Given the description of an element on the screen output the (x, y) to click on. 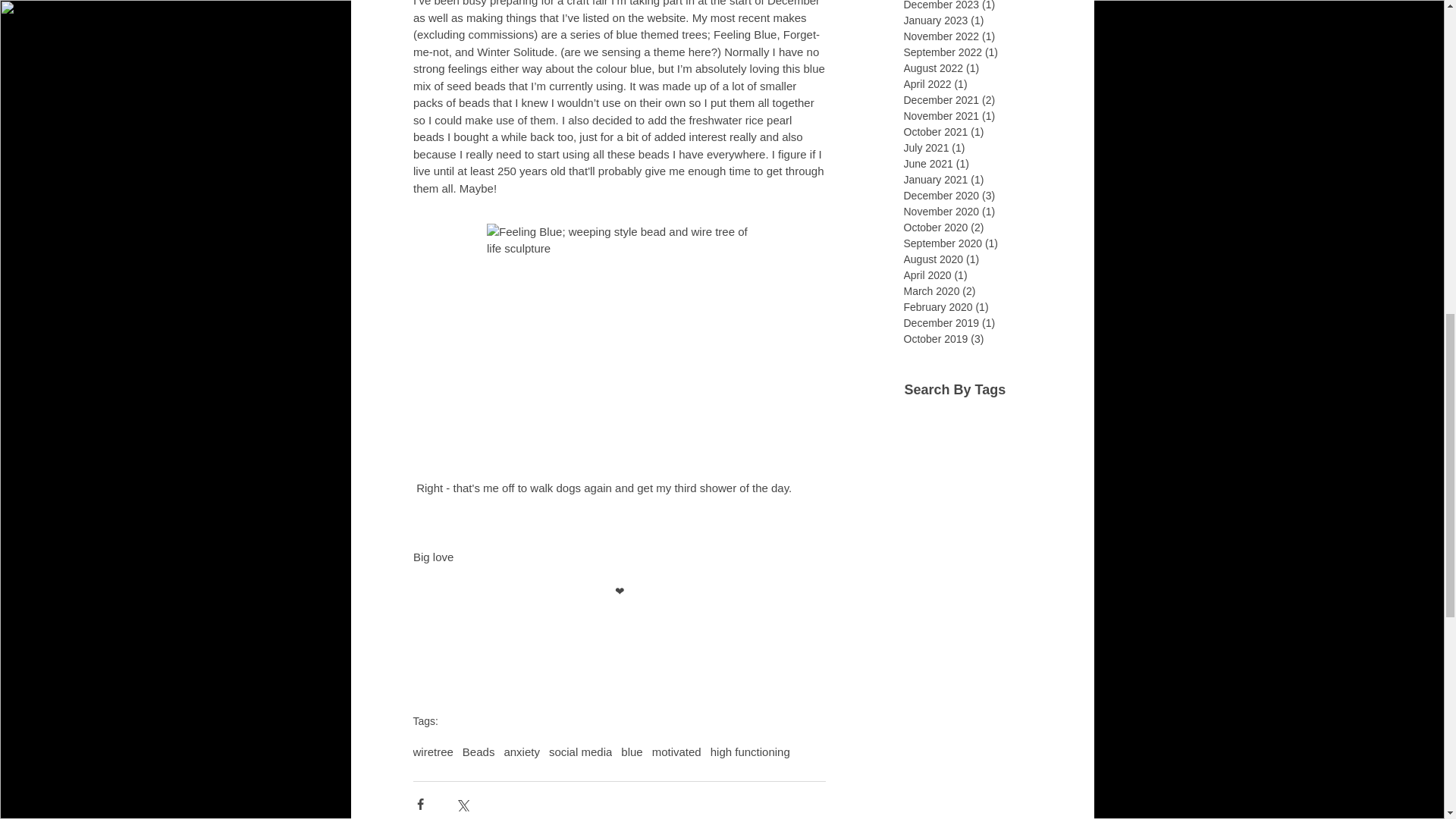
blue (631, 751)
high functioning (750, 751)
wiretree (432, 751)
anxiety (521, 751)
social media (579, 751)
Beads (479, 751)
motivated (676, 751)
